Given the description of an element on the screen output the (x, y) to click on. 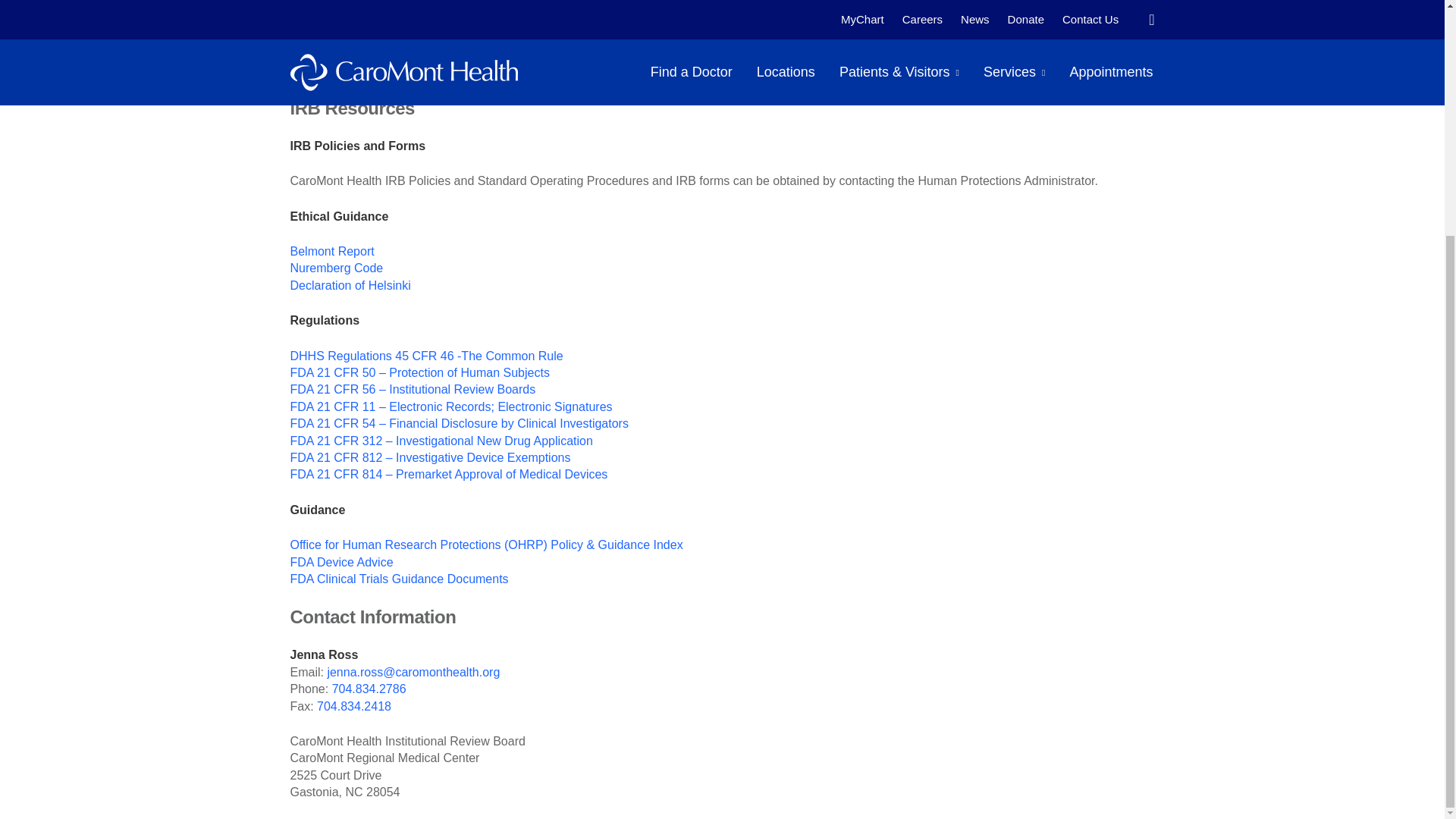
704.834.2786 (368, 688)
704.834.2786 (929, 69)
704.834.2418 (354, 705)
WMA Declaration Of Helsinki (349, 285)
The Nuremberg Code (335, 267)
The Belmont Report (331, 250)
